Given the description of an element on the screen output the (x, y) to click on. 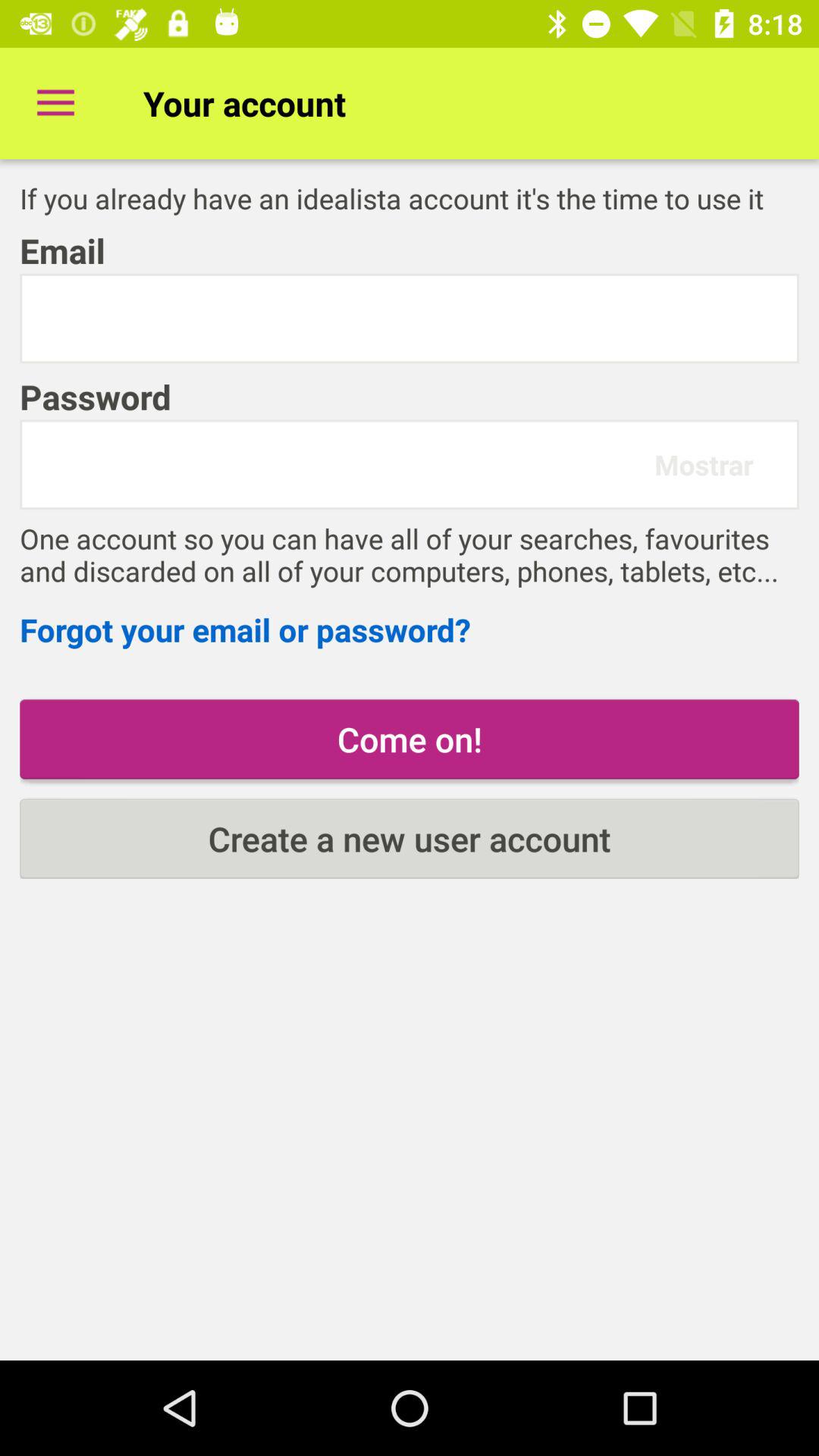
go to password (343, 464)
